Given the description of an element on the screen output the (x, y) to click on. 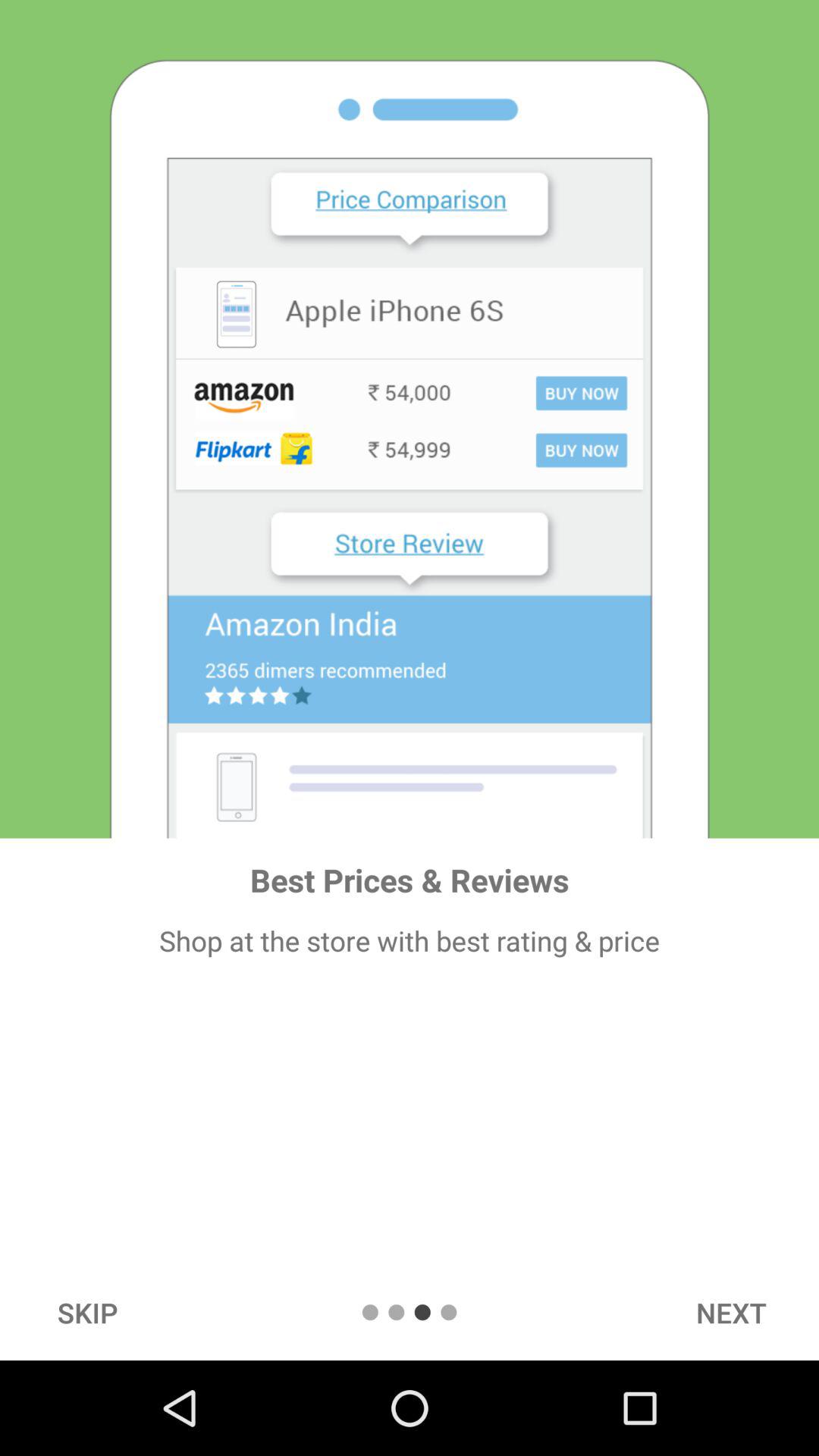
turn on the next icon (731, 1312)
